Given the description of an element on the screen output the (x, y) to click on. 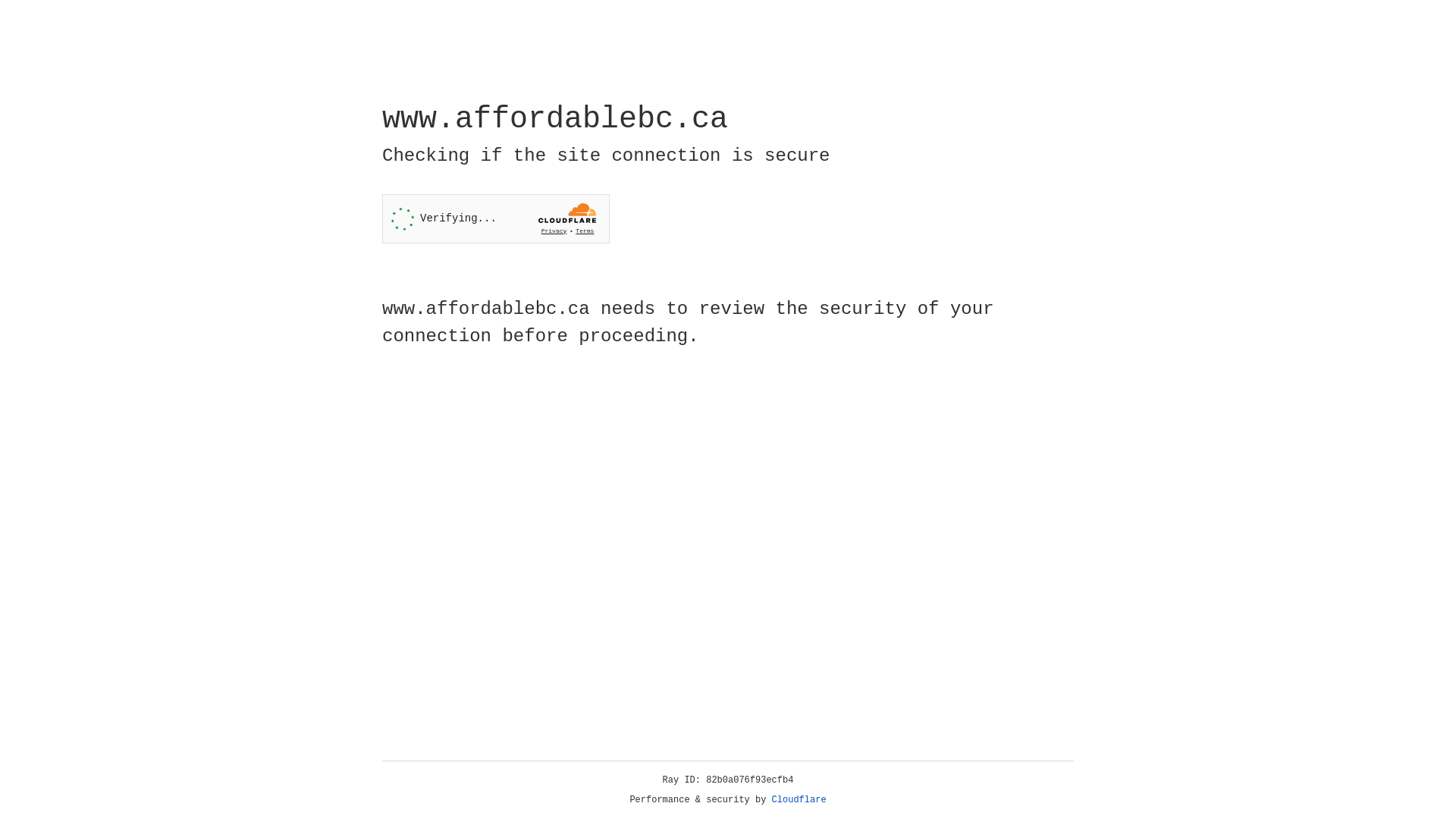
Cloudflare Element type: text (798, 799)
Widget containing a Cloudflare security challenge Element type: hover (495, 218)
